Given the description of an element on the screen output the (x, y) to click on. 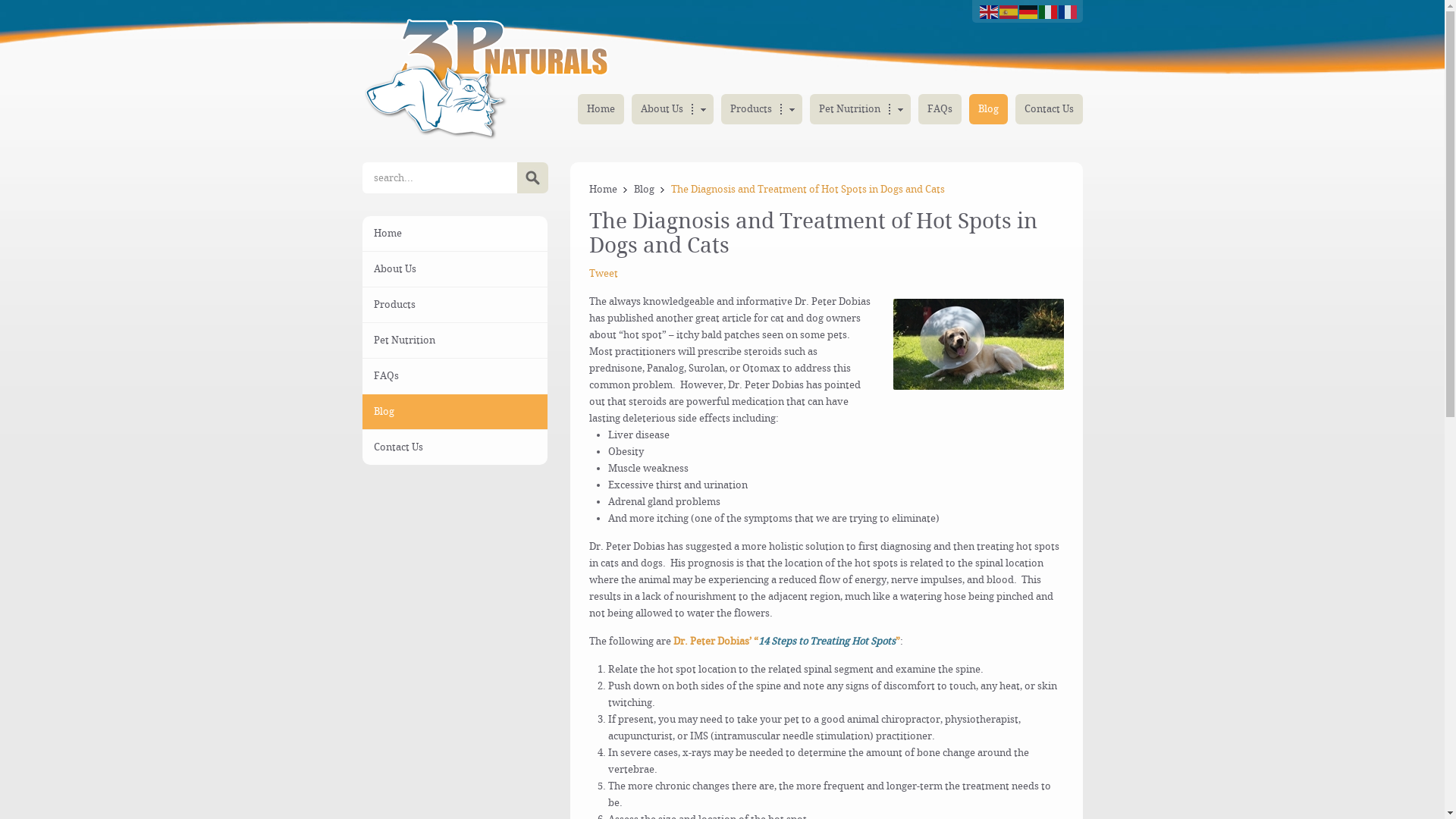
English Element type: hover (989, 10)
Deutsch Element type: hover (1028, 10)
Italiano Element type: hover (1048, 10)
Contact Us Element type: text (454, 446)
FAQs Element type: text (938, 109)
Contact Us Element type: text (1048, 109)
Products Element type: text (454, 304)
Pet Nutrition Element type: text (859, 109)
Blog Element type: text (454, 411)
Reset Element type: text (3, 3)
About Us Element type: text (671, 109)
Home Element type: text (454, 233)
Tweet Element type: text (603, 273)
Blog Element type: text (649, 189)
Home Element type: text (608, 189)
Products Element type: text (760, 109)
Home Element type: text (600, 109)
About Us Element type: text (454, 268)
Blog Element type: text (988, 109)
Pet Nutrition Element type: text (454, 340)
FAQs Element type: text (454, 375)
